Given the description of an element on the screen output the (x, y) to click on. 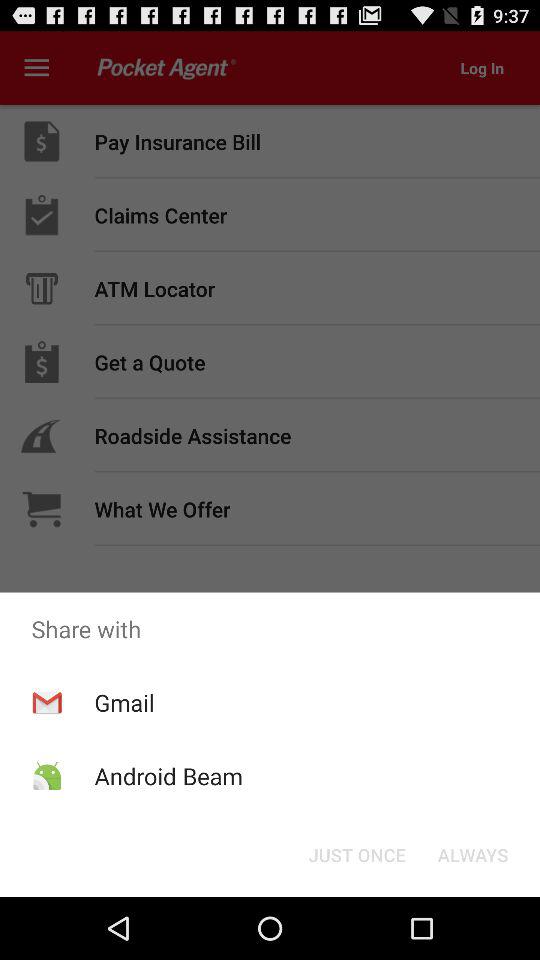
open icon below the share with (124, 702)
